Given the description of an element on the screen output the (x, y) to click on. 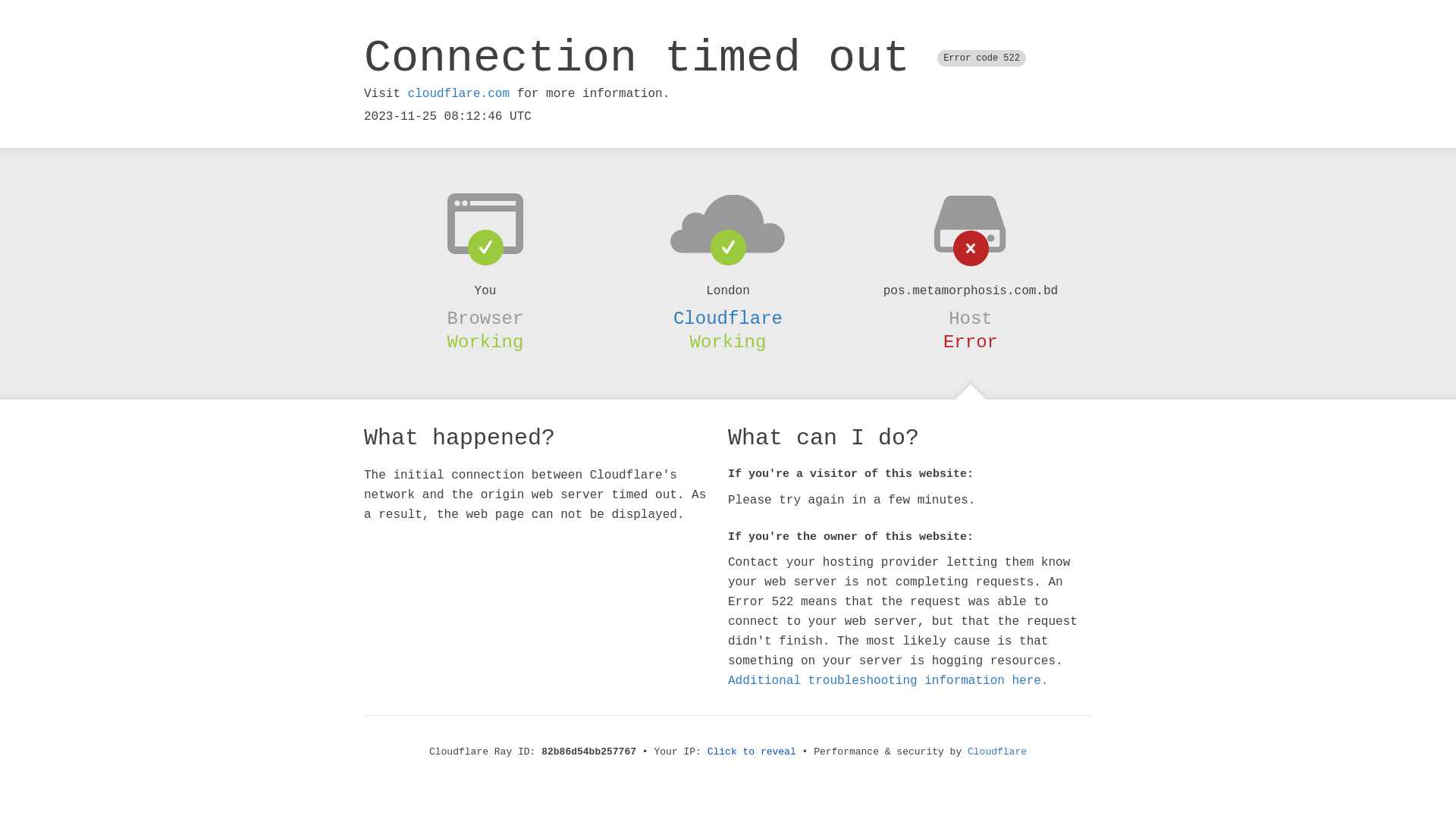
Click to reveal Element type: text (751, 751)
Cloudflare Element type: text (996, 751)
cloudflare.com Element type: text (458, 93)
Additional troubleshooting information here. Element type: text (888, 680)
Cloudflare Element type: text (727, 318)
